Given the description of an element on the screen output the (x, y) to click on. 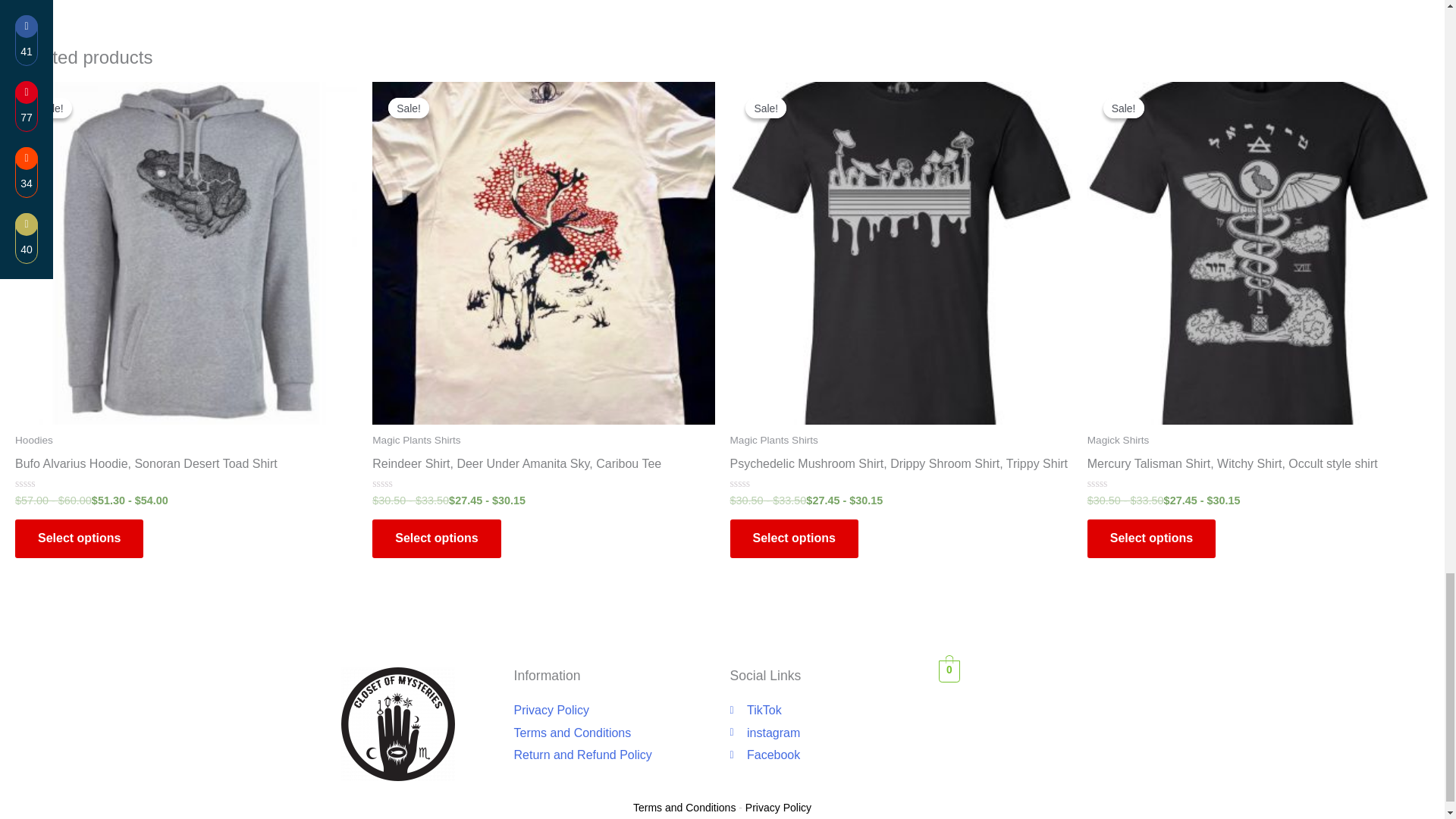
View your shopping cart (949, 670)
